Given the description of an element on the screen output the (x, y) to click on. 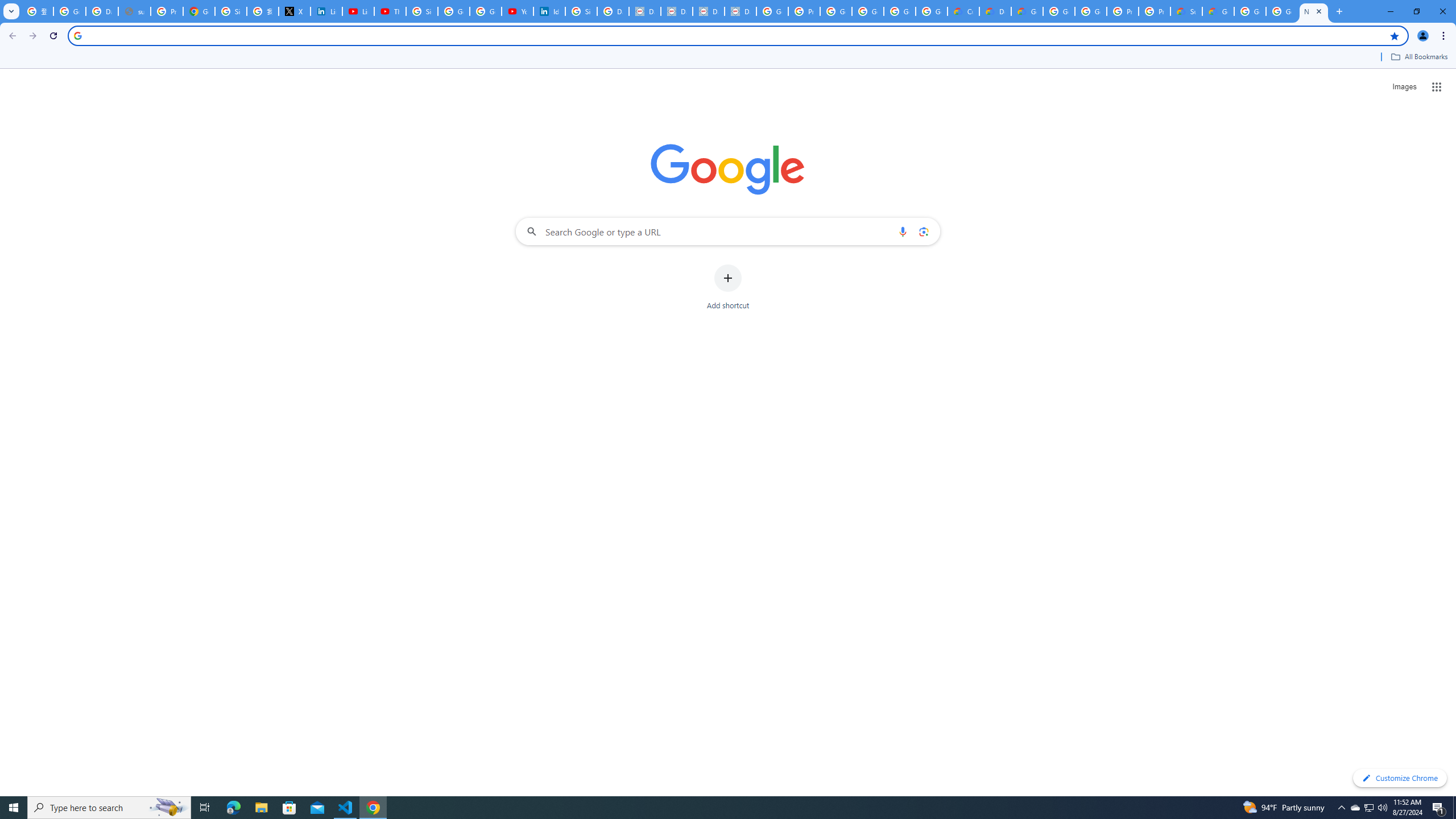
Google Cloud Service Health (1217, 11)
Google Cloud Platform (1059, 11)
Customer Care | Google Cloud (963, 11)
Google Cloud Platform (1091, 11)
Data Privacy Framework (740, 11)
